Given the description of an element on the screen output the (x, y) to click on. 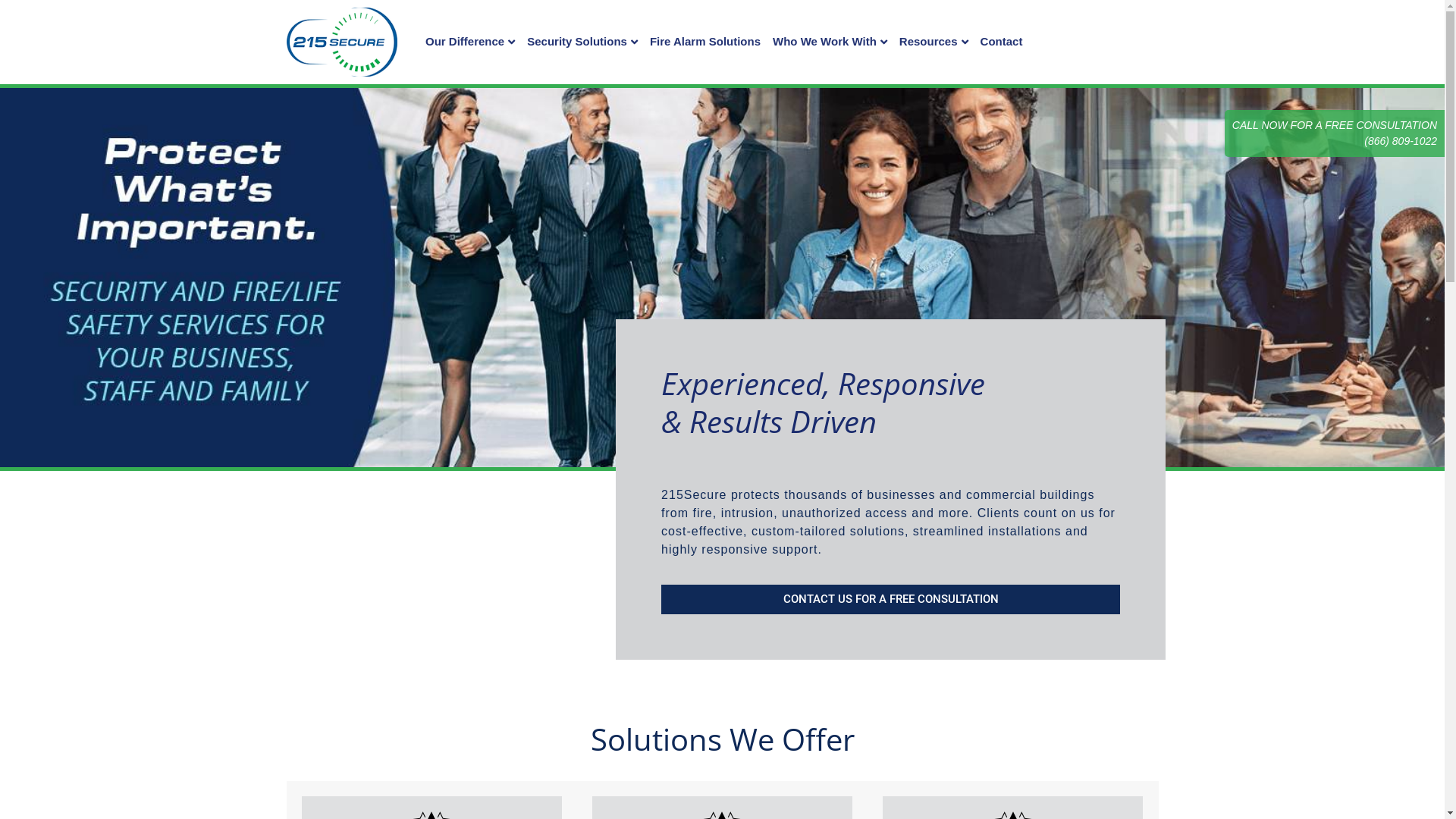
CONTACT US FOR A FREE CONSULTATION Element type: text (890, 599)
CALL NOW FOR A FREE CONSULTATION
(866) 809-1022 Element type: text (1334, 132)
Resources Element type: text (933, 41)
Who We Work With Element type: text (829, 41)
Fire Alarm Solutions Element type: text (704, 41)
Our Difference Element type: text (469, 41)
Contact Element type: text (1001, 41)
(866) 809-1022 Element type: text (1400, 140)
Security Solutions Element type: text (581, 41)
